Given the description of an element on the screen output the (x, y) to click on. 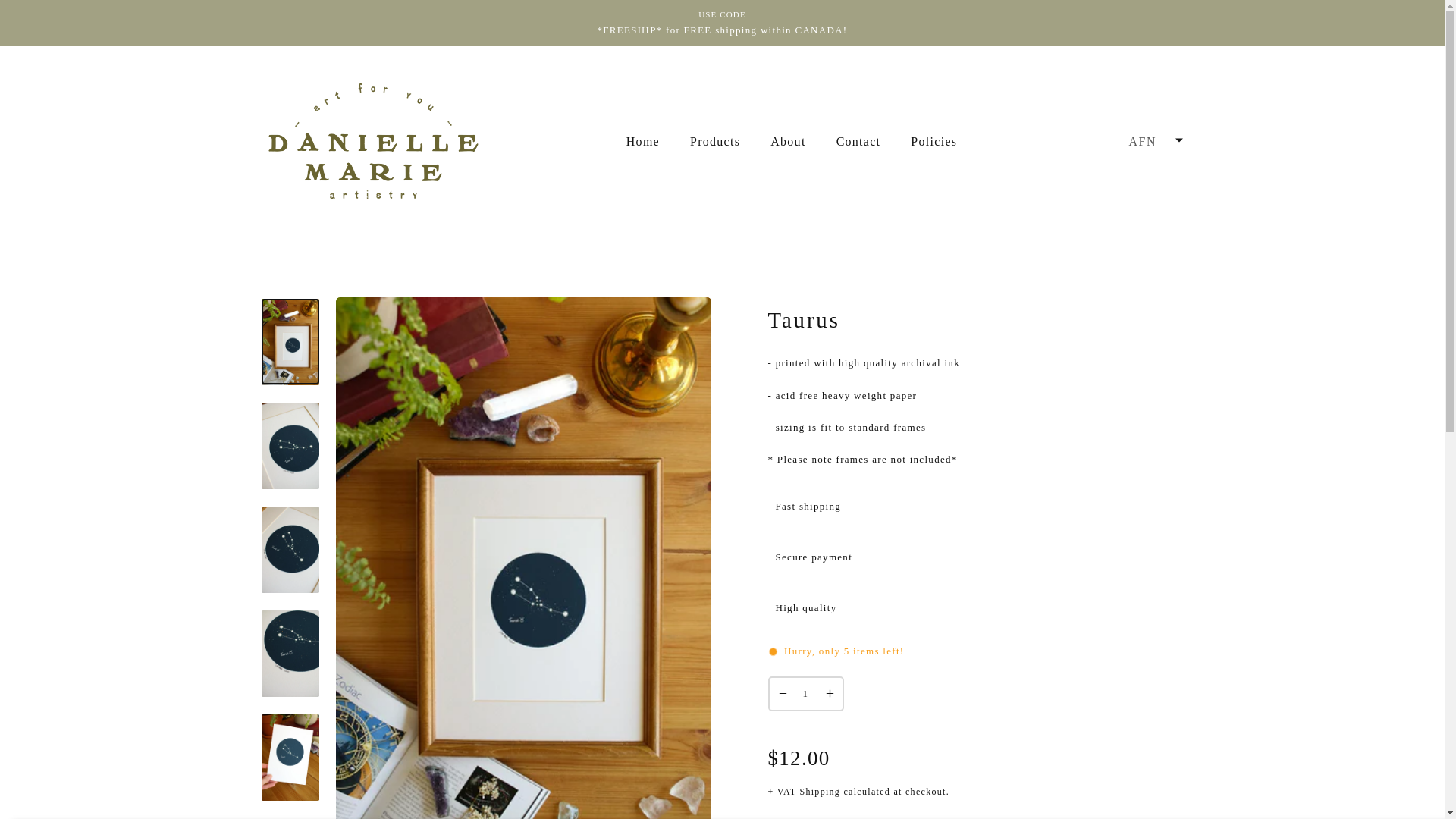
1 (805, 693)
Home (643, 141)
Products (715, 141)
